Given the description of an element on the screen output the (x, y) to click on. 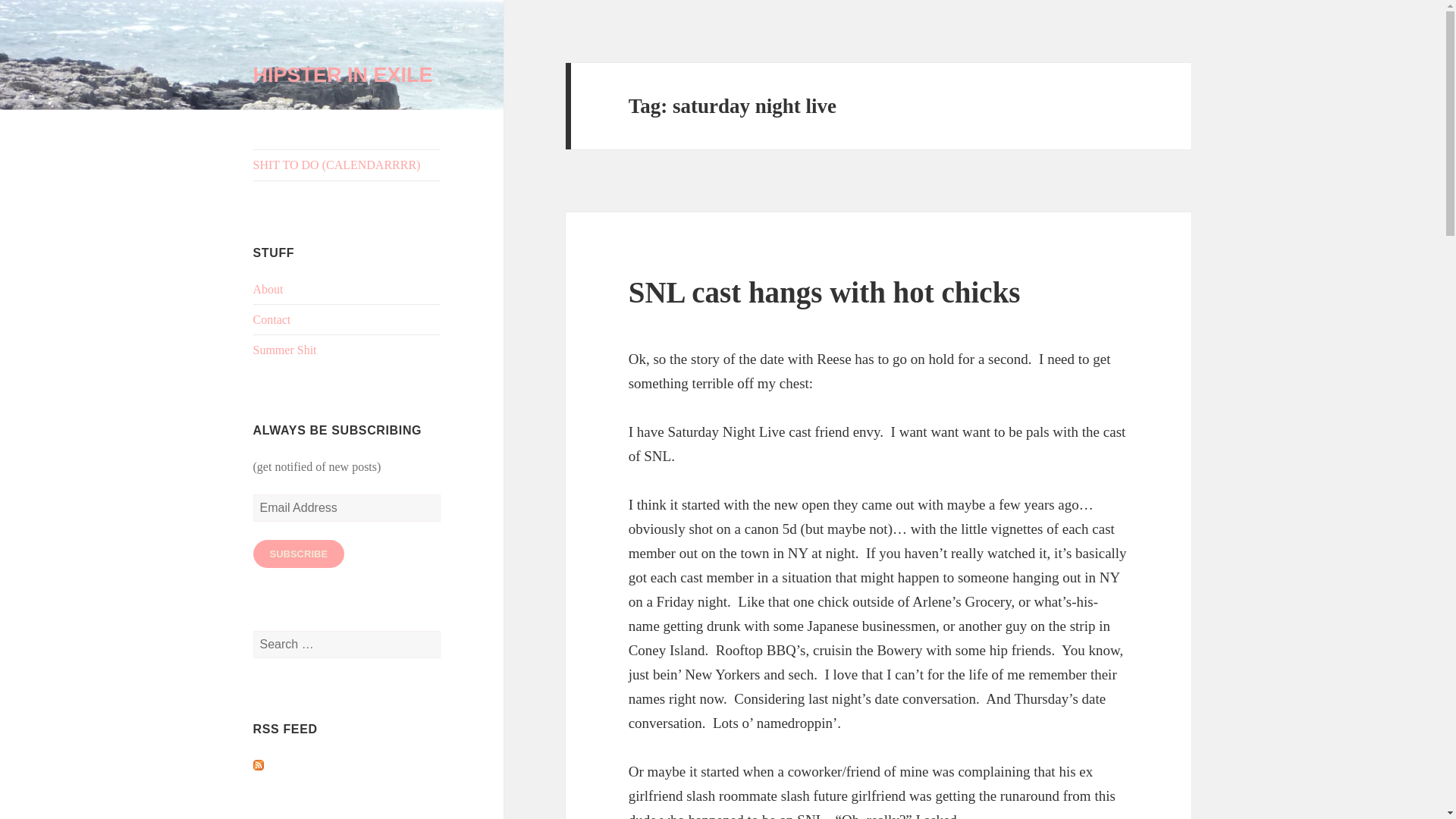
Summer Shit (285, 349)
SUBSCRIBE (299, 553)
HIPSTER IN EXILE (342, 74)
About (268, 288)
Contact (272, 318)
